Given the description of an element on the screen output the (x, y) to click on. 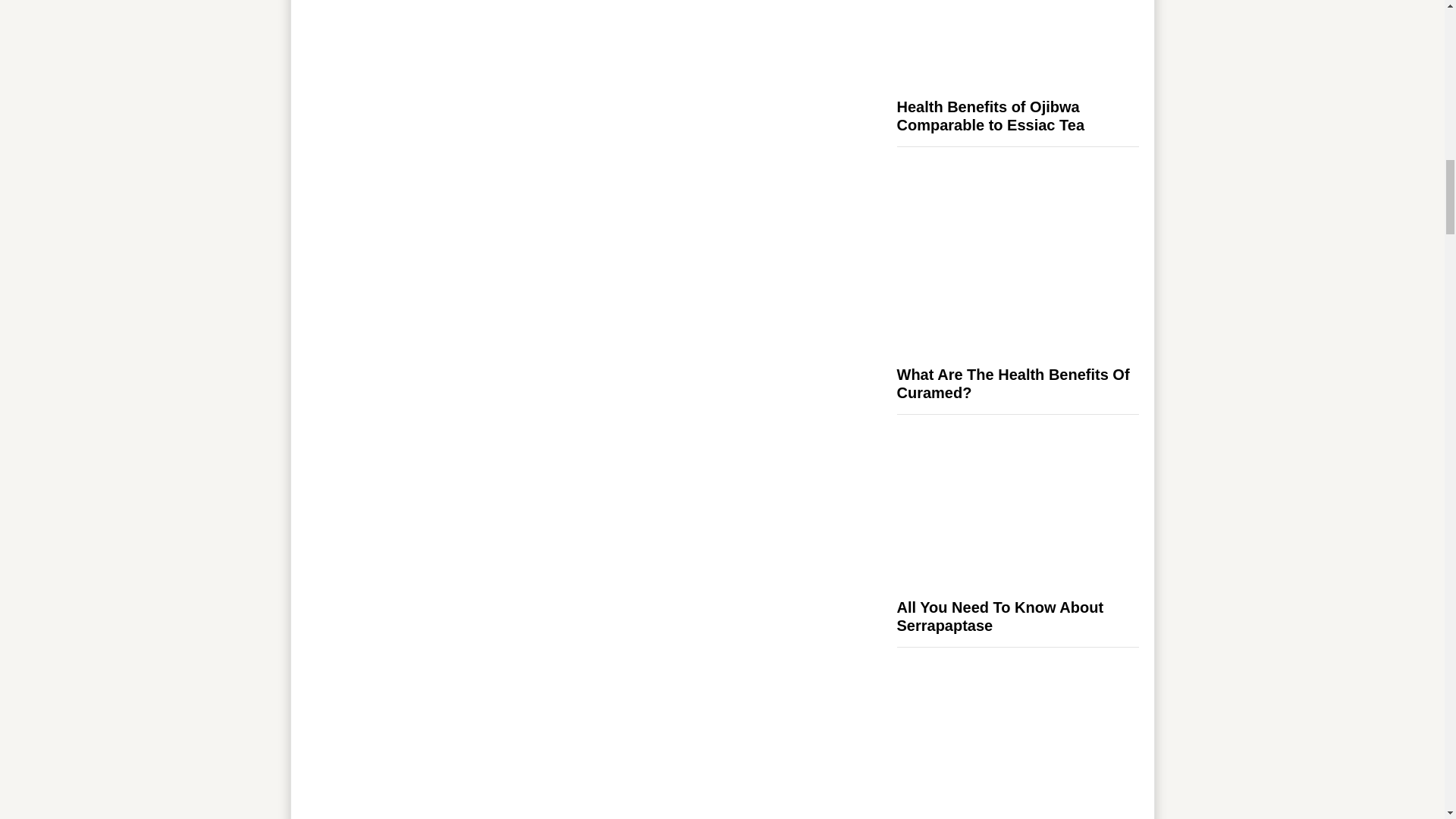
What Are The Health Benefits Of Curamed? (1012, 383)
Health Benefits of Ojibwa Comparable to Essiac Tea (990, 115)
All You Need To Know About Serrapaptase (999, 615)
